Given the description of an element on the screen output the (x, y) to click on. 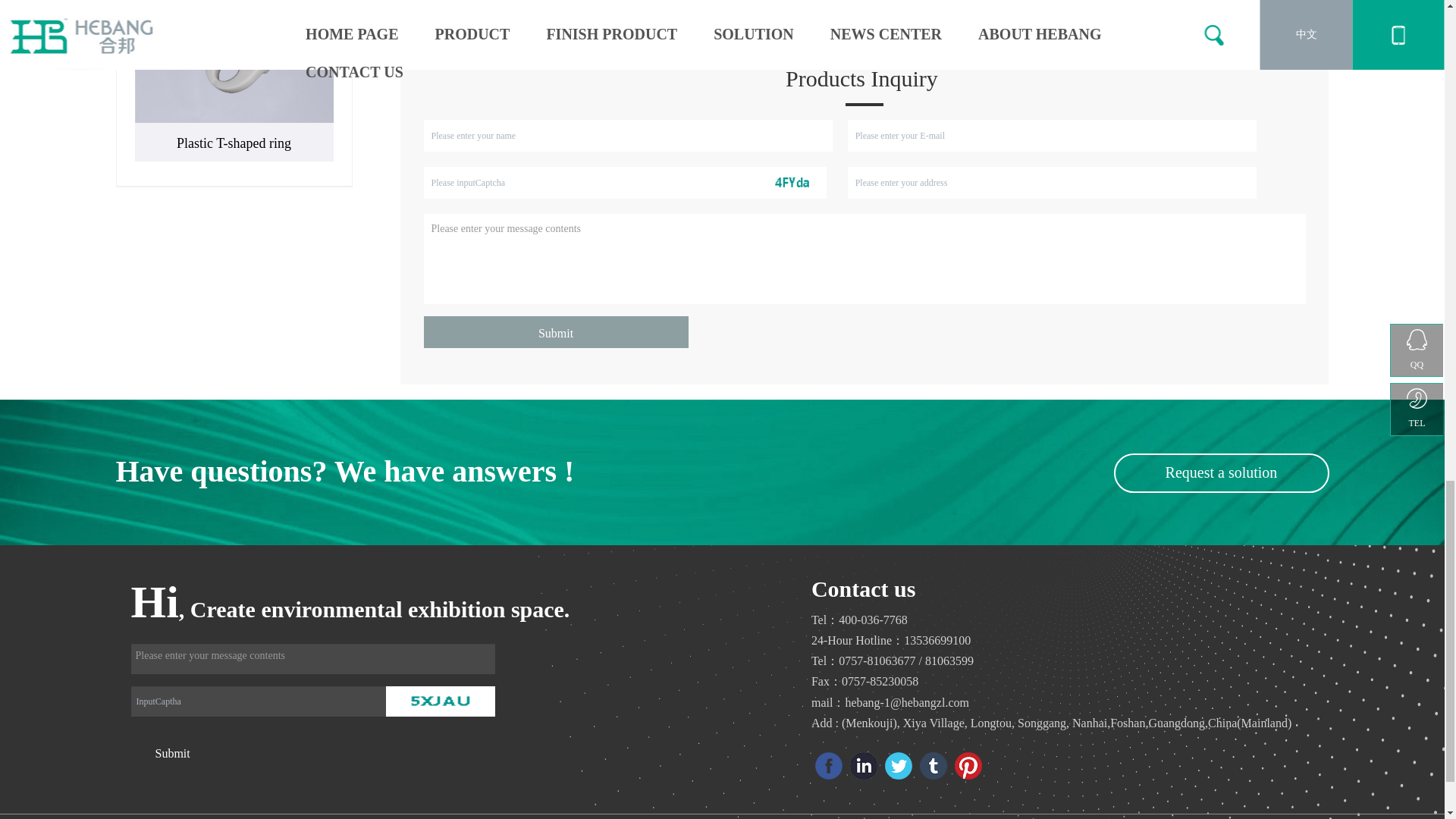
Request a solution (1220, 472)
Plastic T-shaped ring (234, 61)
